Given the description of an element on the screen output the (x, y) to click on. 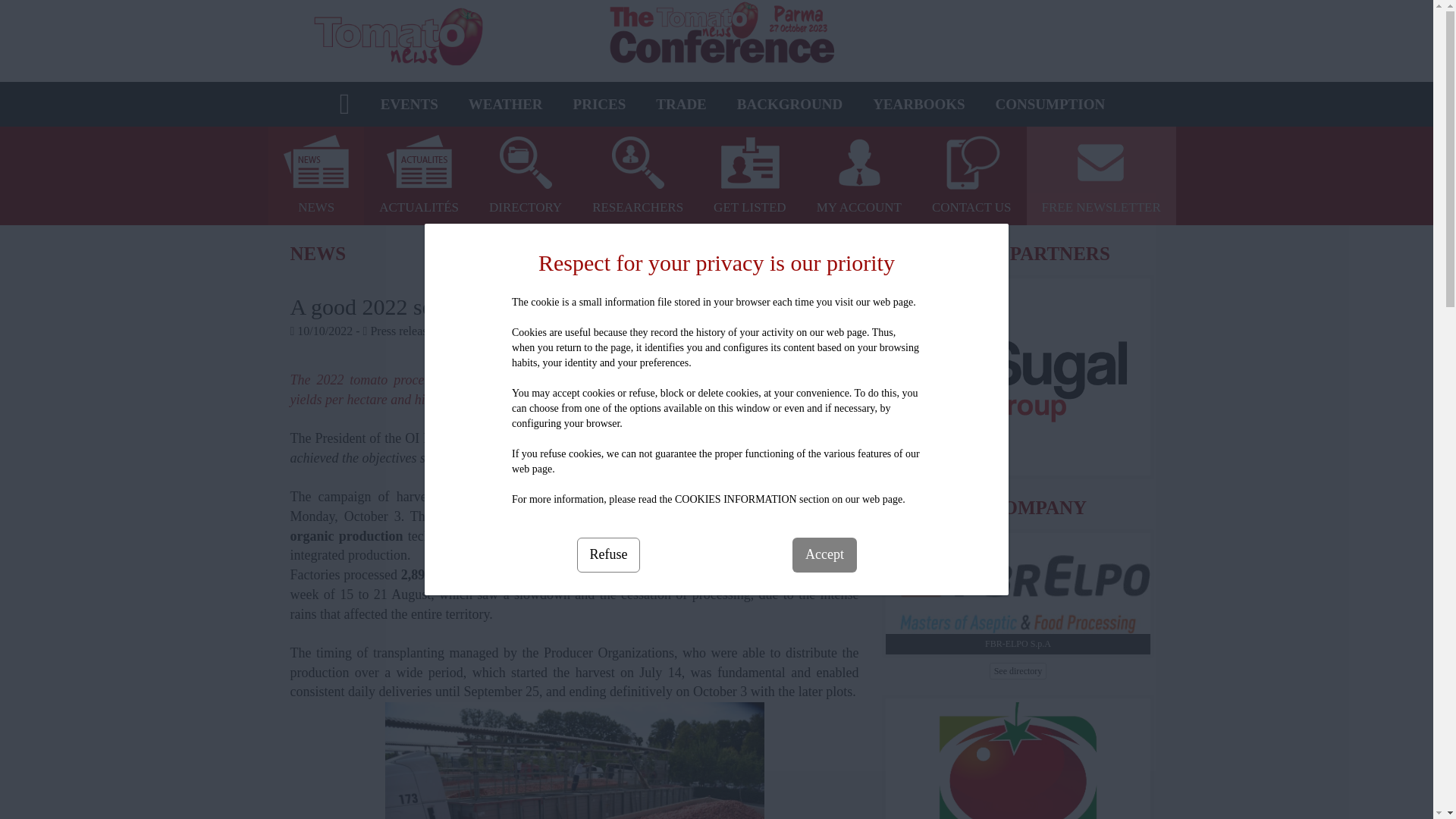
COOKIES INFORMATION (735, 499)
Background (789, 104)
YEARBOOKS (917, 104)
CONTACT US (971, 175)
PRICES (599, 104)
DIRECTORY (525, 175)
NEWS (315, 175)
Researchers (637, 175)
PRICES (599, 104)
GET LISTED (750, 175)
EVENTS (409, 104)
BACKGROUND (789, 104)
Directory (525, 175)
Refuse (608, 554)
Trade (681, 104)
